Given the description of an element on the screen output the (x, y) to click on. 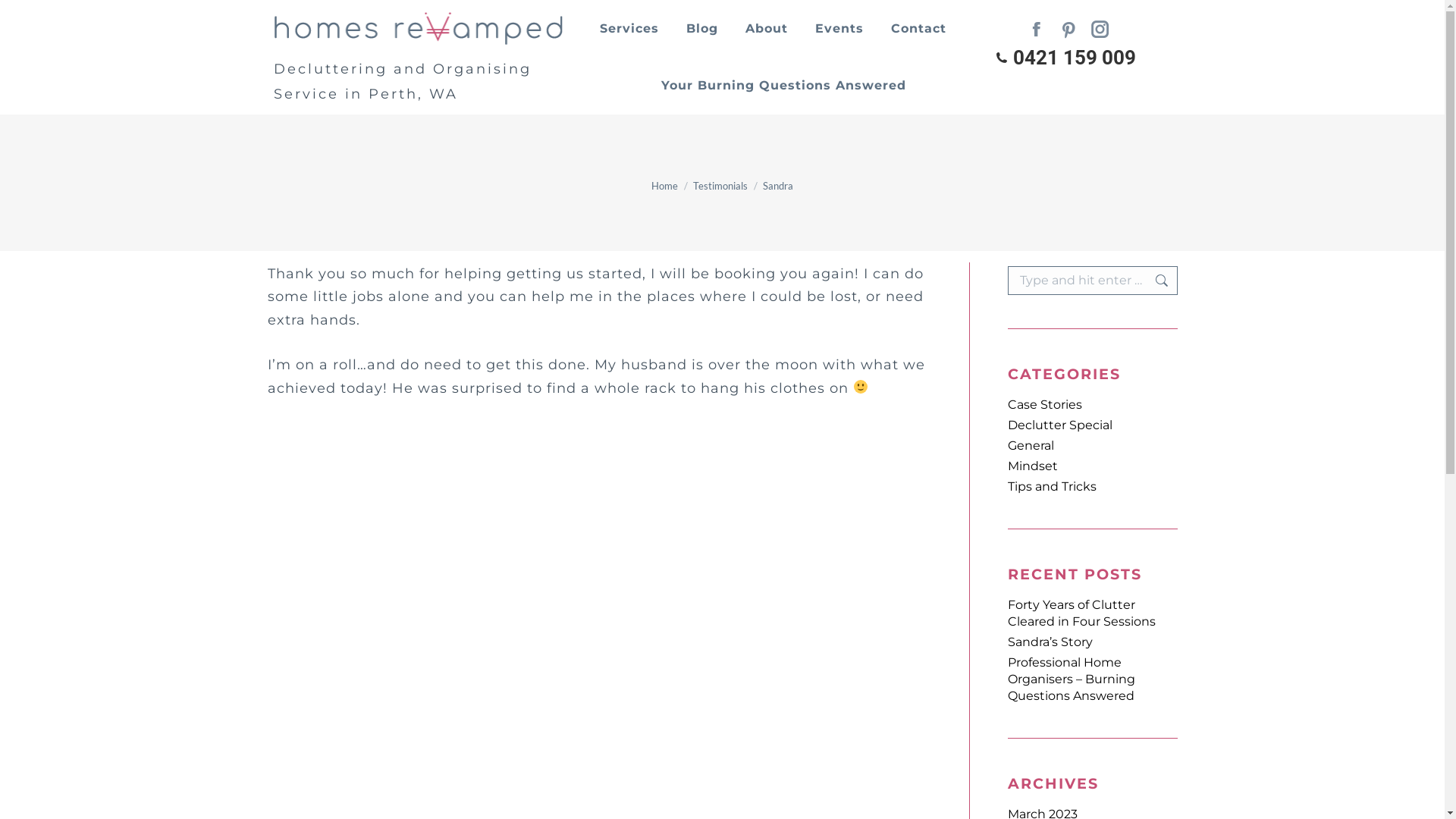
Testimonials Element type: text (720, 185)
Tips and Tricks Element type: text (1051, 486)
Declutter Special Element type: text (1059, 425)
Contact Element type: text (918, 28)
Facebook page opens in new window Element type: text (1036, 33)
General Element type: text (1030, 445)
Go! Element type: text (1154, 280)
Services Element type: text (629, 28)
About Element type: text (766, 28)
Mindset Element type: text (1032, 466)
Case Stories Element type: text (1044, 404)
Events Element type: text (839, 28)
Home Element type: text (664, 185)
Your Burning Questions Answered Element type: text (783, 85)
Pinterest page opens in new window Element type: text (1068, 33)
Blog Element type: text (702, 28)
Forty Years of Clutter Cleared in Four Sessions Element type: text (1091, 613)
Instagram page opens in new window Element type: text (1100, 33)
